Given the description of an element on the screen output the (x, y) to click on. 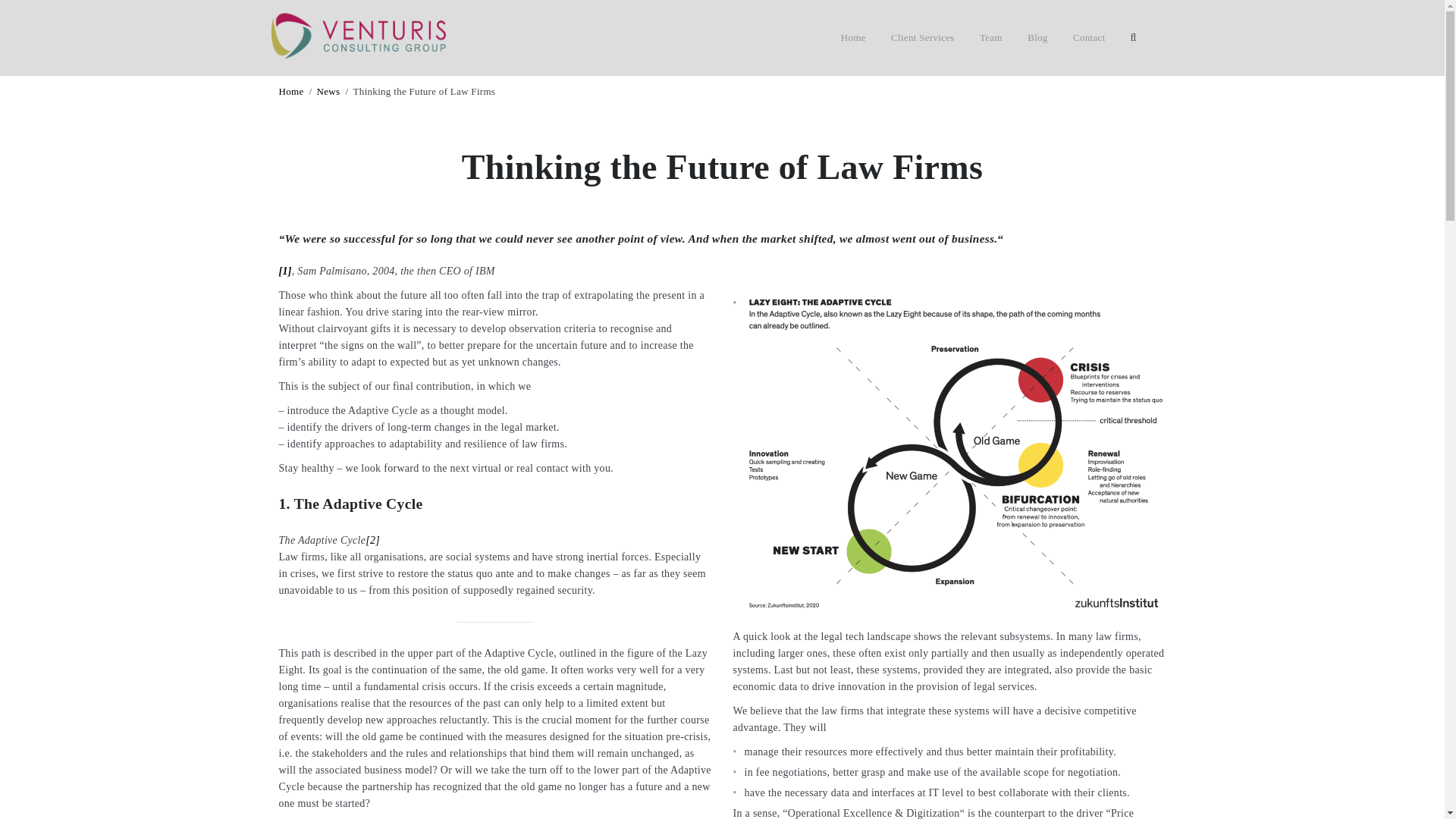
Home (853, 37)
Contact (1089, 37)
Home (298, 91)
News (333, 91)
Blog (1036, 37)
Client Services (923, 37)
Team (991, 37)
